Given the description of an element on the screen output the (x, y) to click on. 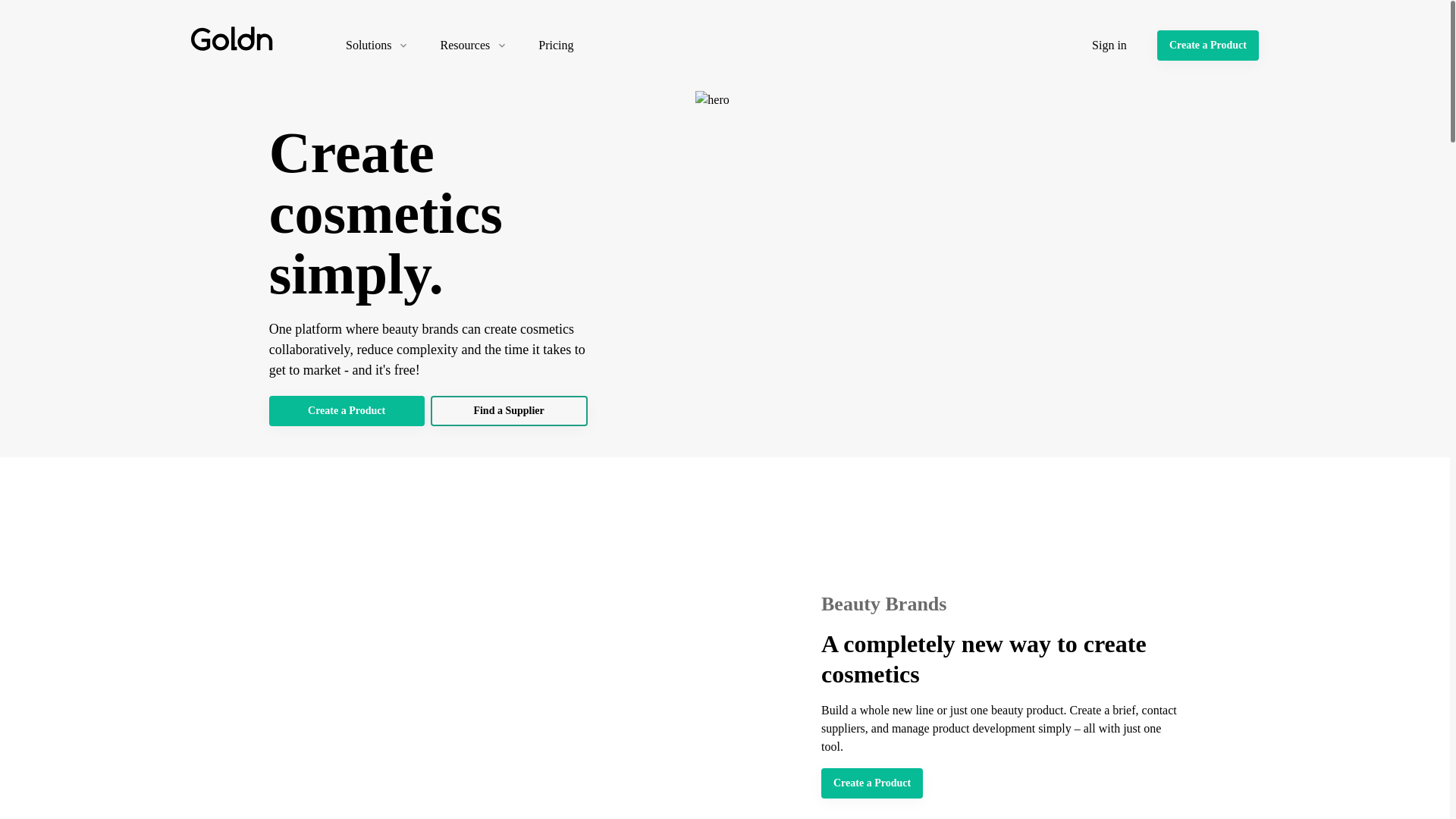
Create a Product (872, 783)
Create a Product (1208, 45)
Find a Supplier (509, 410)
Create a Product (347, 410)
Sign in (1109, 45)
